Given the description of an element on the screen output the (x, y) to click on. 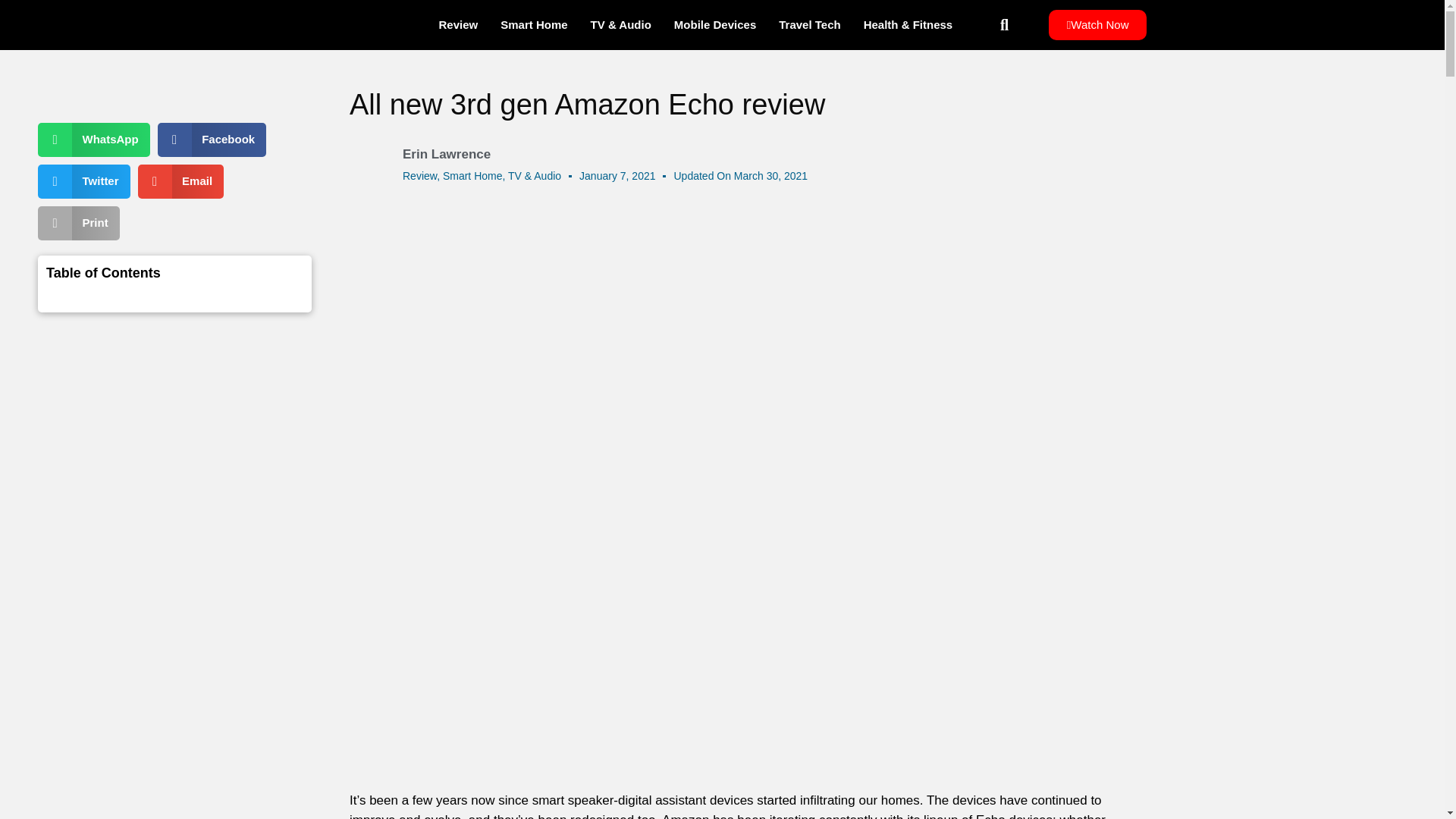
Review (419, 175)
Smart Home (533, 24)
Travel Tech (809, 24)
Mobile Devices (714, 24)
Watch Now (1097, 24)
Smart Home (472, 175)
January 7, 2021 (617, 176)
Review (458, 24)
